Given the description of an element on the screen output the (x, y) to click on. 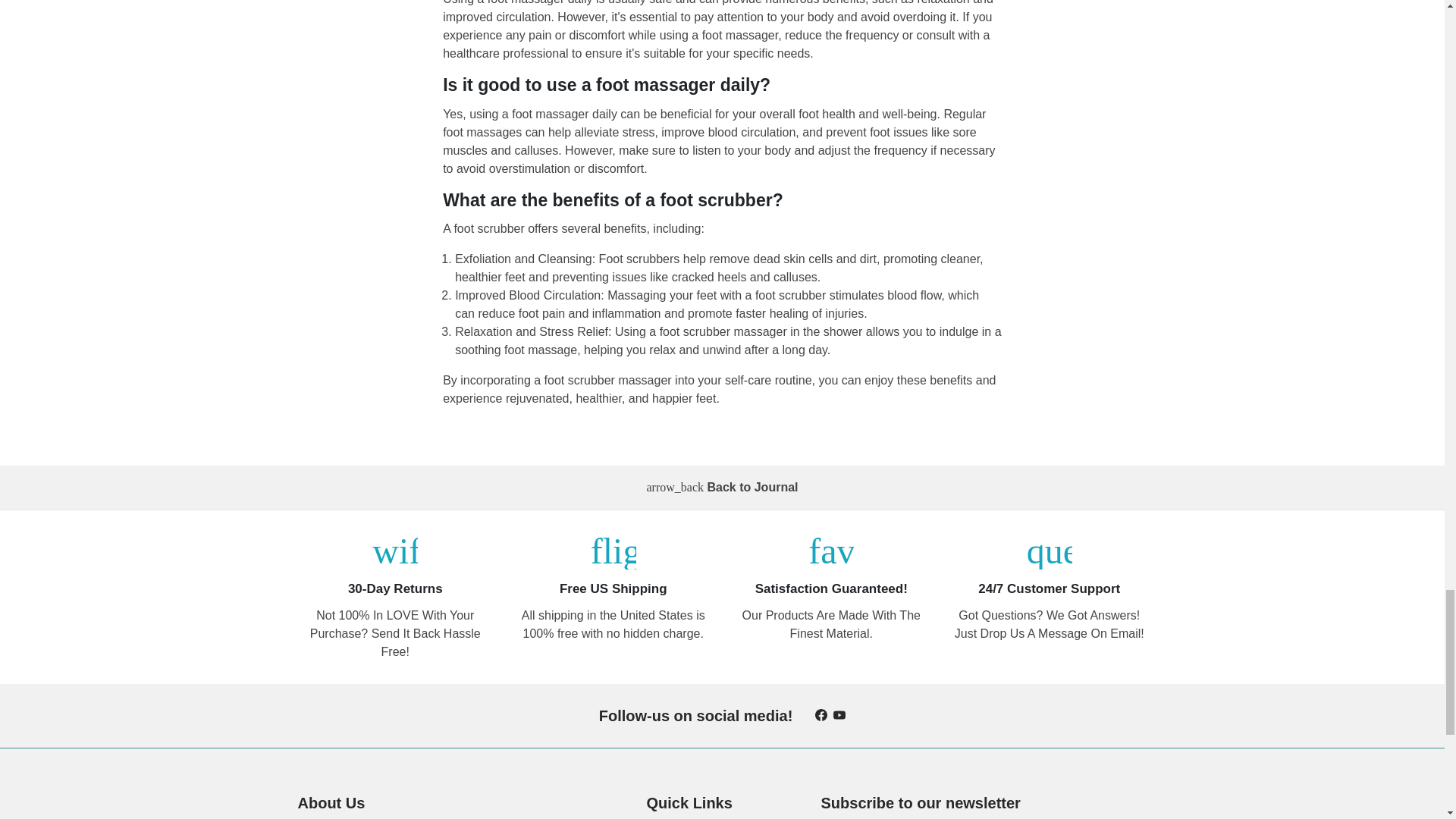
EFFOREST on Facebook (821, 715)
